Given the description of an element on the screen output the (x, y) to click on. 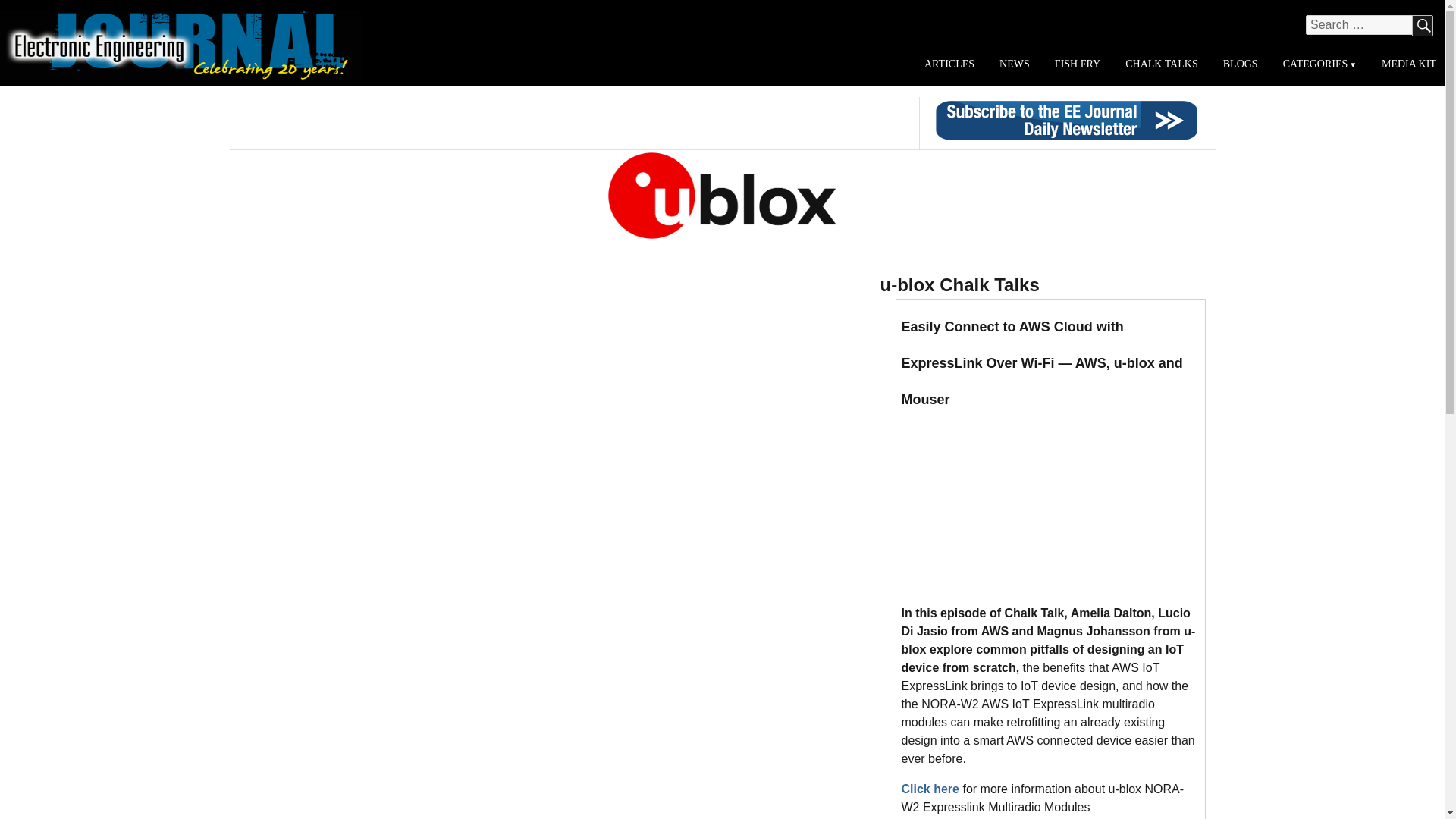
FISH FRY (1077, 63)
NEWS (1014, 63)
BLOGS (1239, 63)
Click here (929, 788)
CHALK TALKS (1161, 63)
CATEGORIES (1318, 63)
ARTICLES (949, 63)
